Given the description of an element on the screen output the (x, y) to click on. 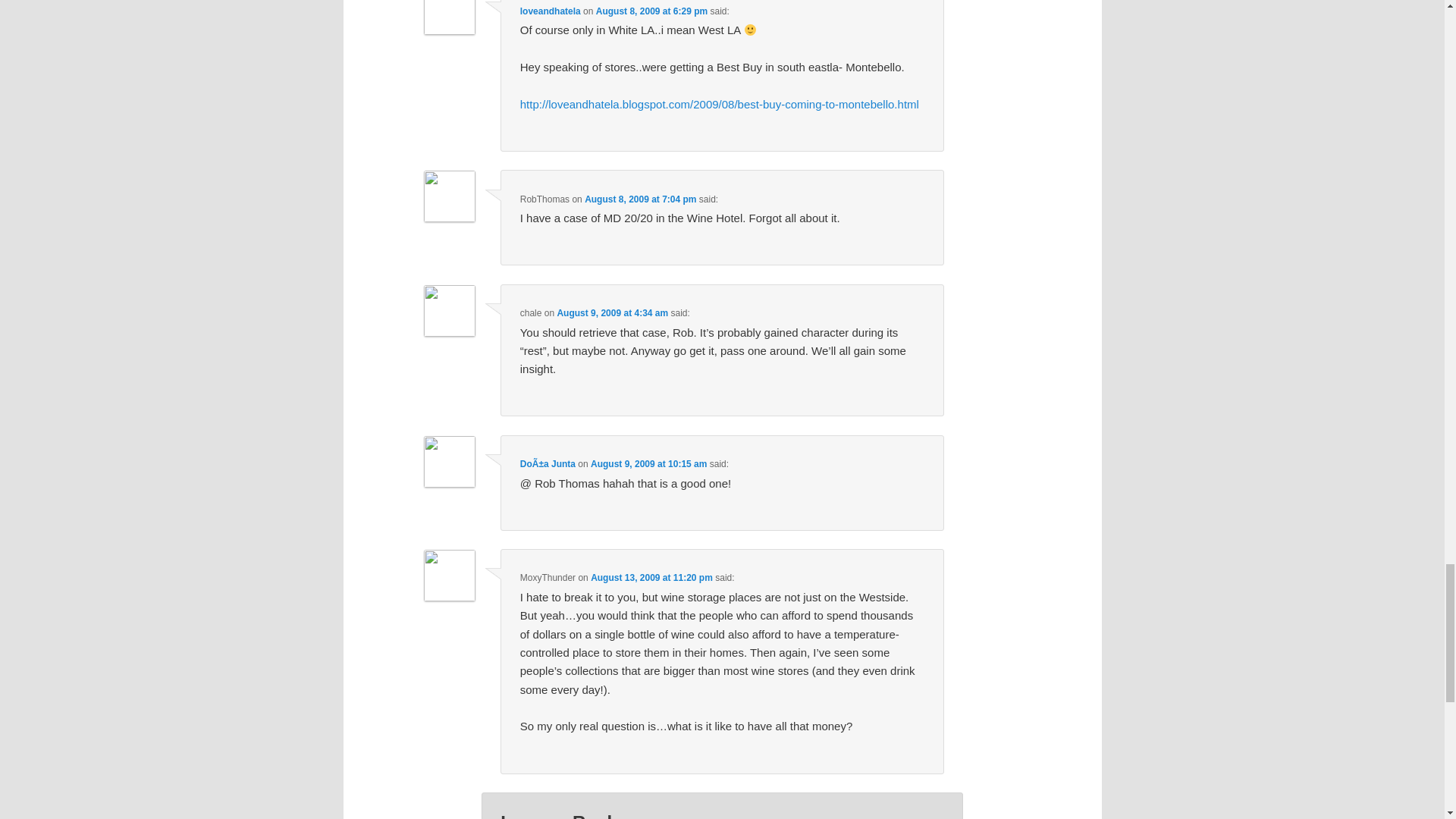
August 8, 2009 at 7:04 pm (640, 199)
August 13, 2009 at 11:20 pm (652, 577)
August 8, 2009 at 6:29 pm (651, 10)
August 9, 2009 at 10:15 am (648, 463)
August 9, 2009 at 4:34 am (612, 312)
loveandhatela (549, 10)
